Given the description of an element on the screen output the (x, y) to click on. 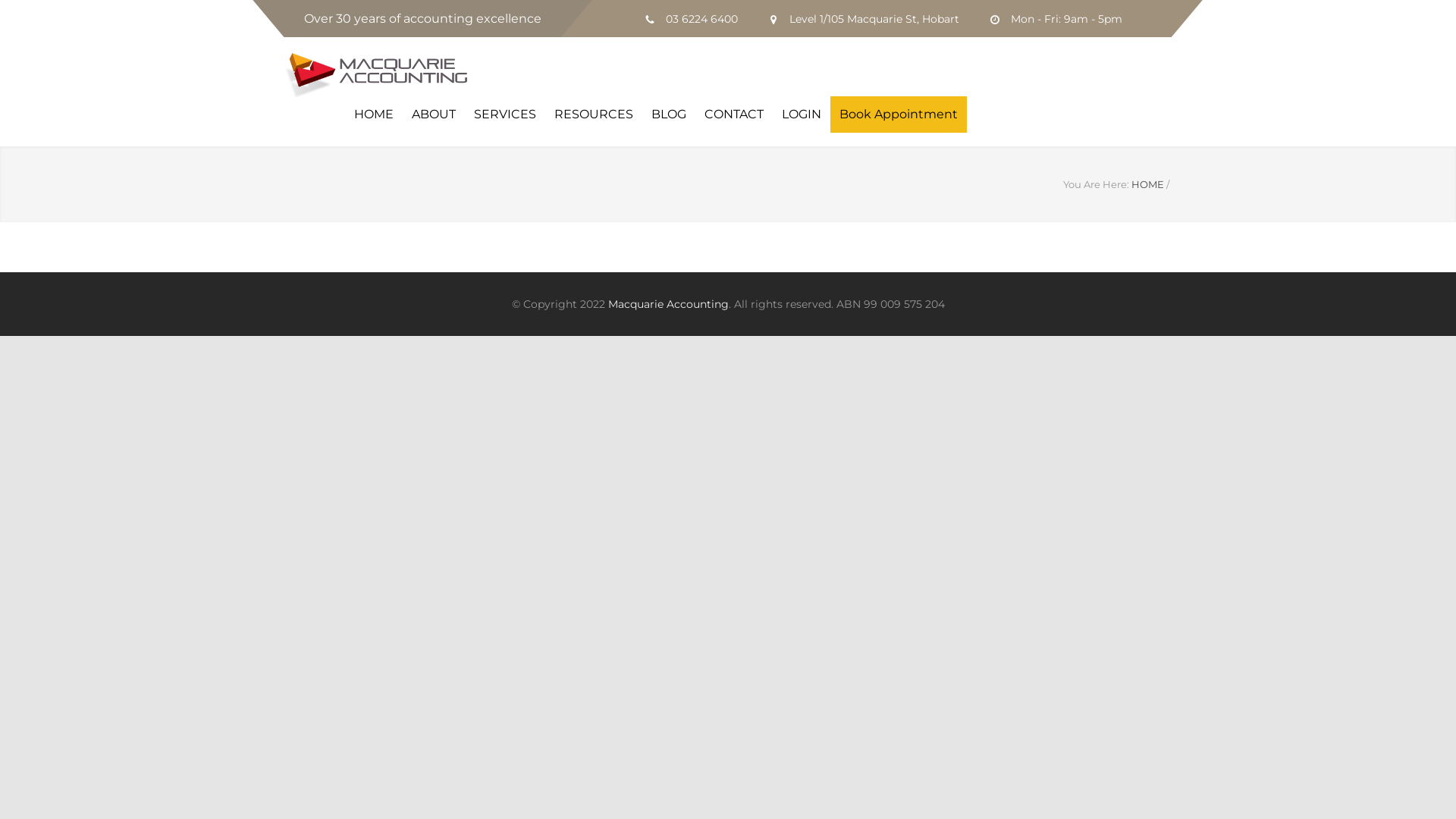
Macquarie Accounting Element type: hover (386, 75)
HOME Element type: text (373, 114)
LOGIN Element type: text (801, 114)
HOME Element type: text (1147, 184)
ABOUT Element type: text (433, 114)
RESOURCES Element type: text (593, 114)
SERVICES Element type: text (504, 114)
BLOG Element type: text (668, 114)
CONTACT Element type: text (733, 114)
Macquarie Accounting Element type: text (668, 303)
Book Appointment Element type: text (898, 114)
